Given the description of an element on the screen output the (x, y) to click on. 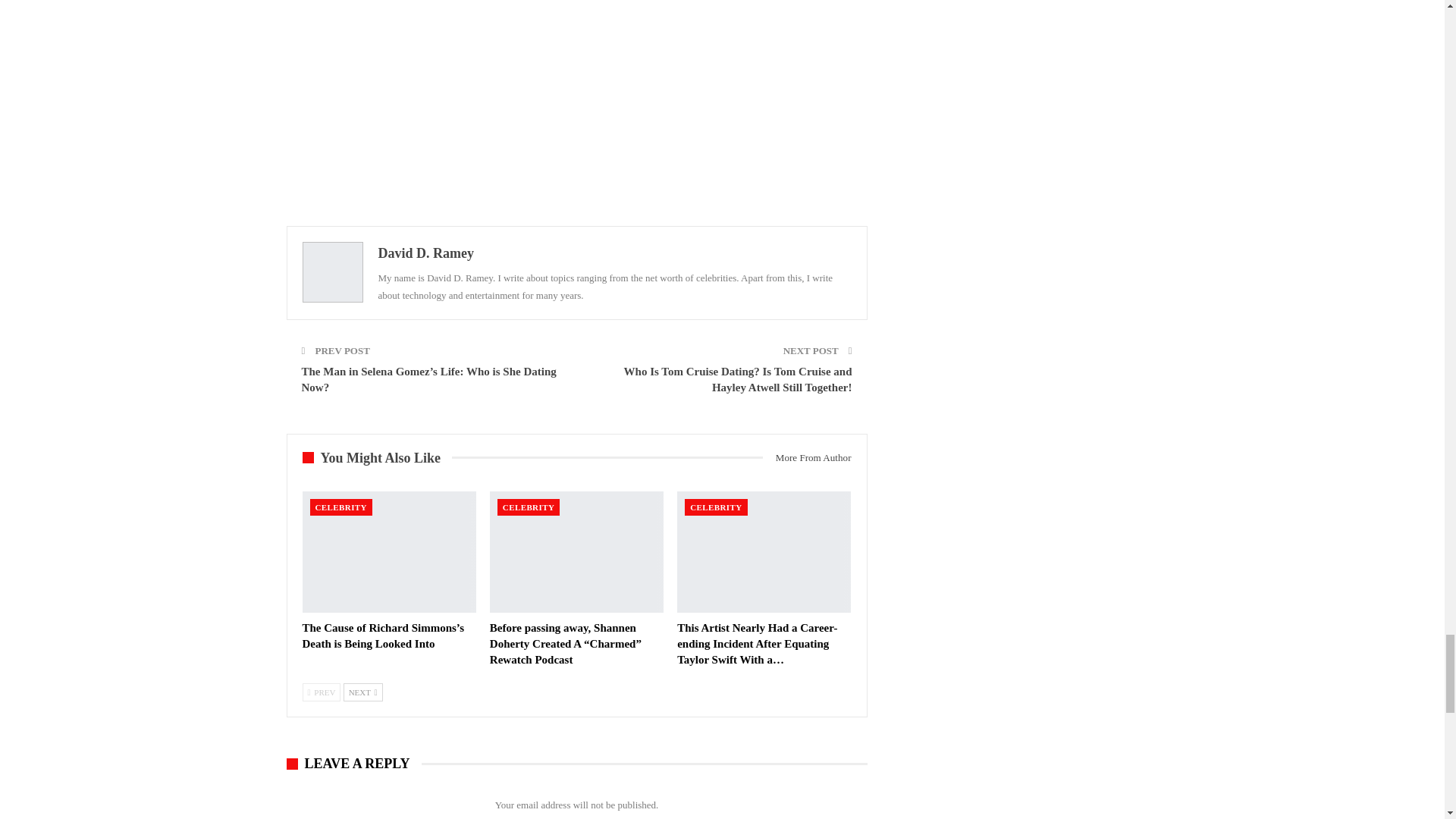
David D. Ramey (425, 253)
You Might Also Like (376, 458)
CELEBRITY (528, 507)
More From Author (806, 457)
CELEBRITY (339, 507)
